Given the description of an element on the screen output the (x, y) to click on. 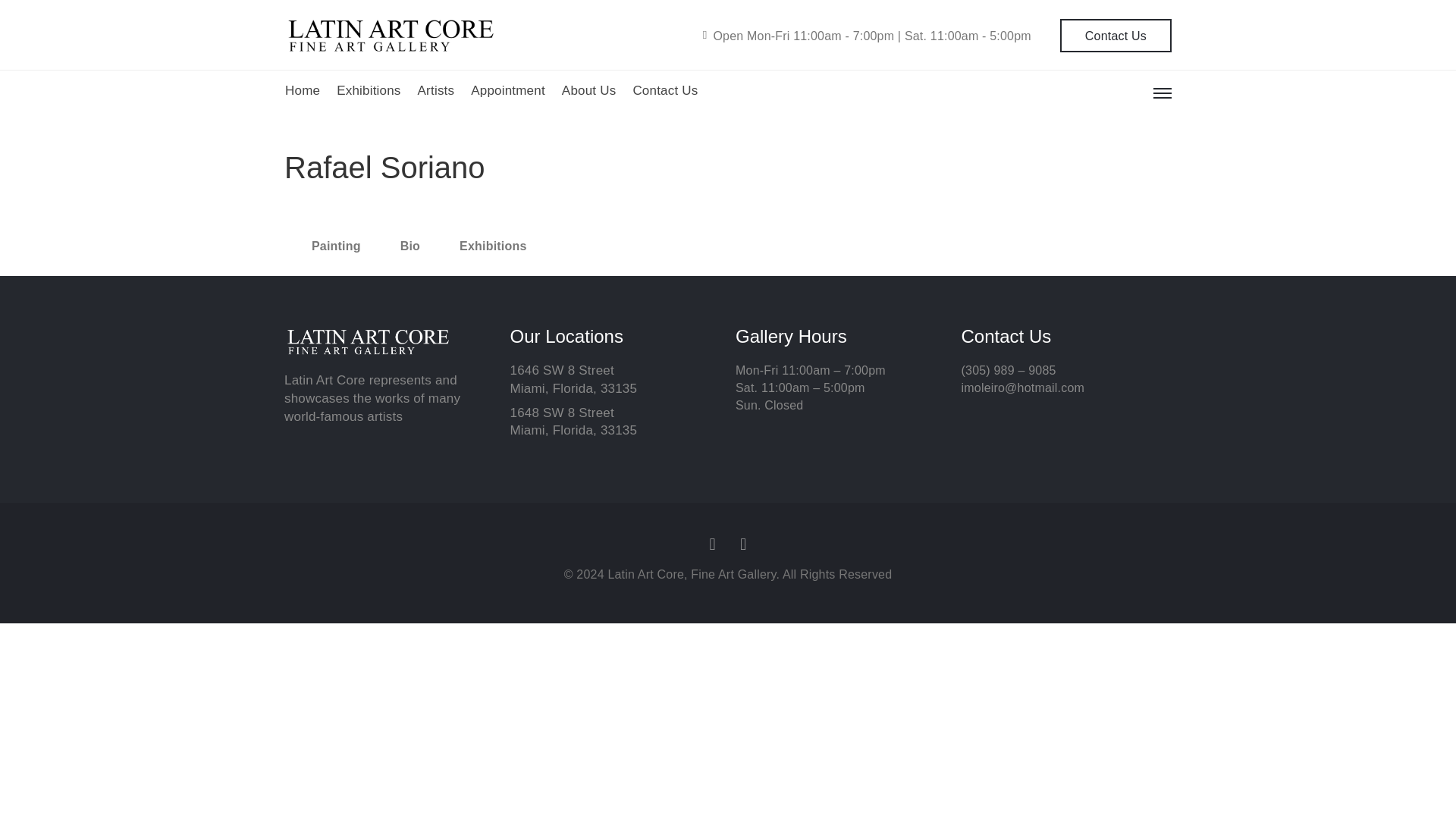
Exhibitions (368, 91)
Appointment (507, 91)
About Us (588, 91)
Artists (435, 91)
Contact Us (1115, 35)
Contact Us (664, 91)
